Given the description of an element on the screen output the (x, y) to click on. 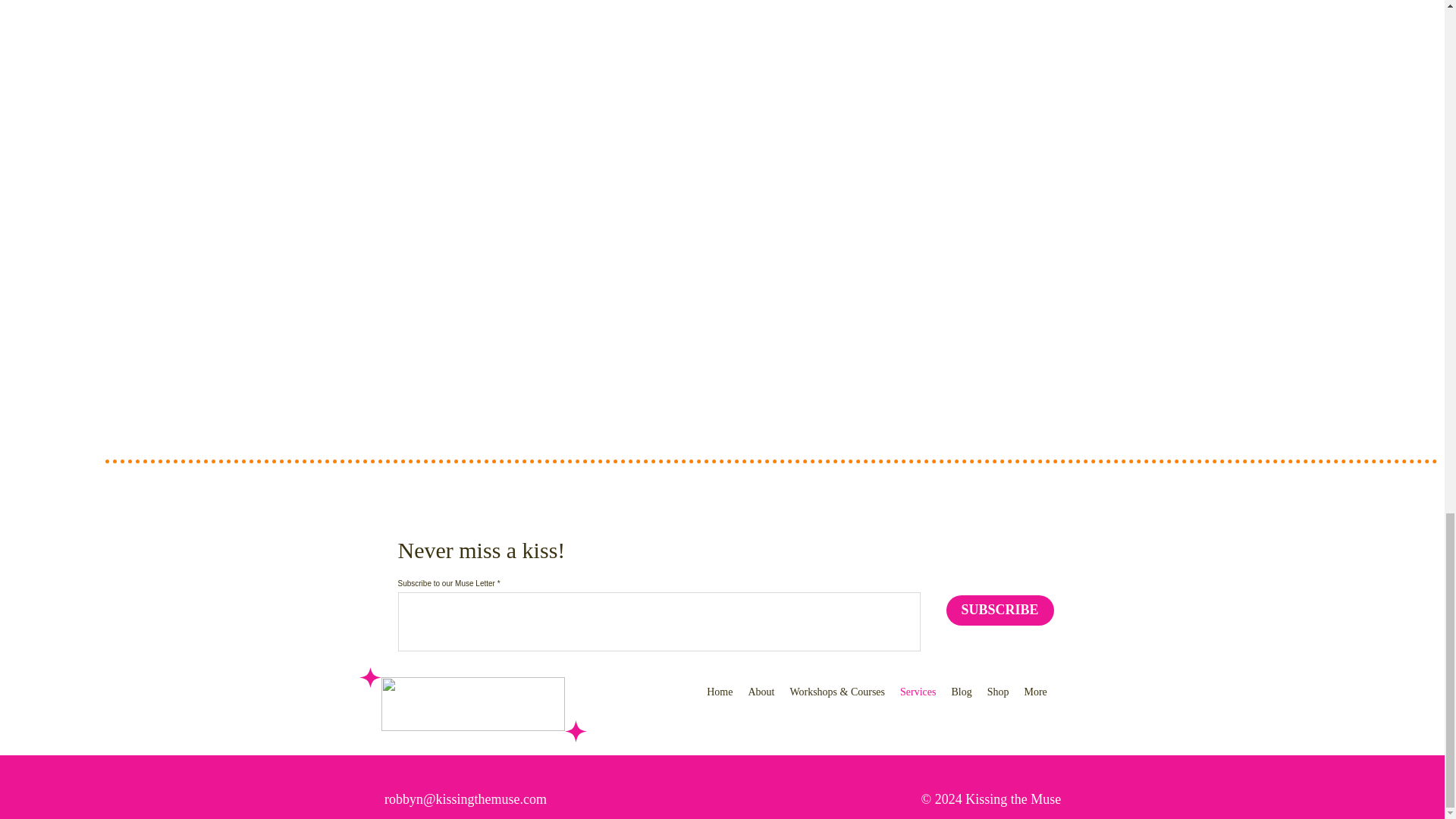
Blog (960, 701)
Services (917, 701)
Home (718, 701)
About (760, 701)
Shop (997, 701)
SUBSCRIBE (1000, 610)
